Given the description of an element on the screen output the (x, y) to click on. 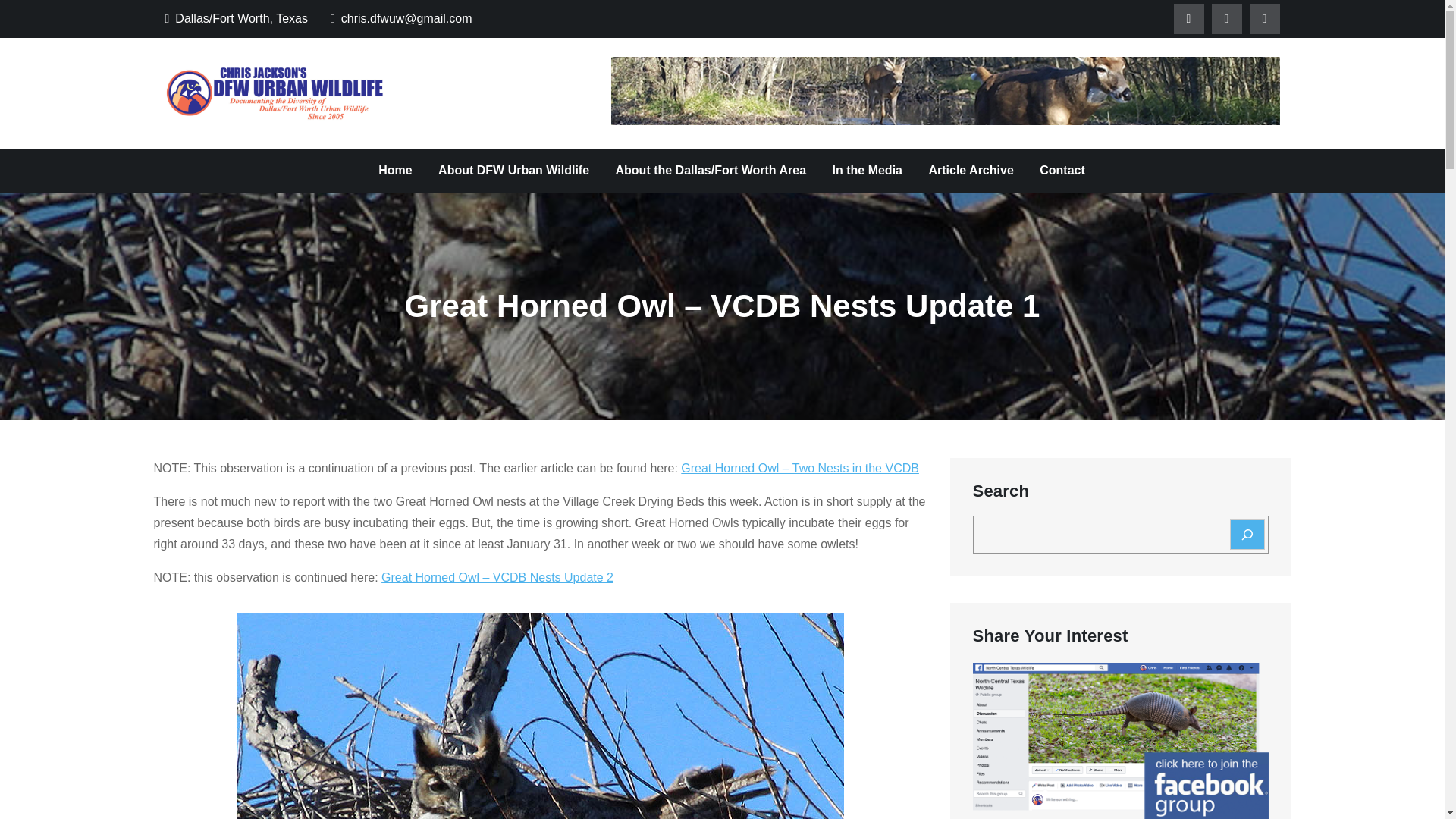
Home (394, 170)
About DFW Urban Wildlife (512, 170)
In the Media (867, 170)
DFW Urban Wildlife (509, 108)
Contact (1061, 170)
Article Archive (971, 170)
